Given the description of an element on the screen output the (x, y) to click on. 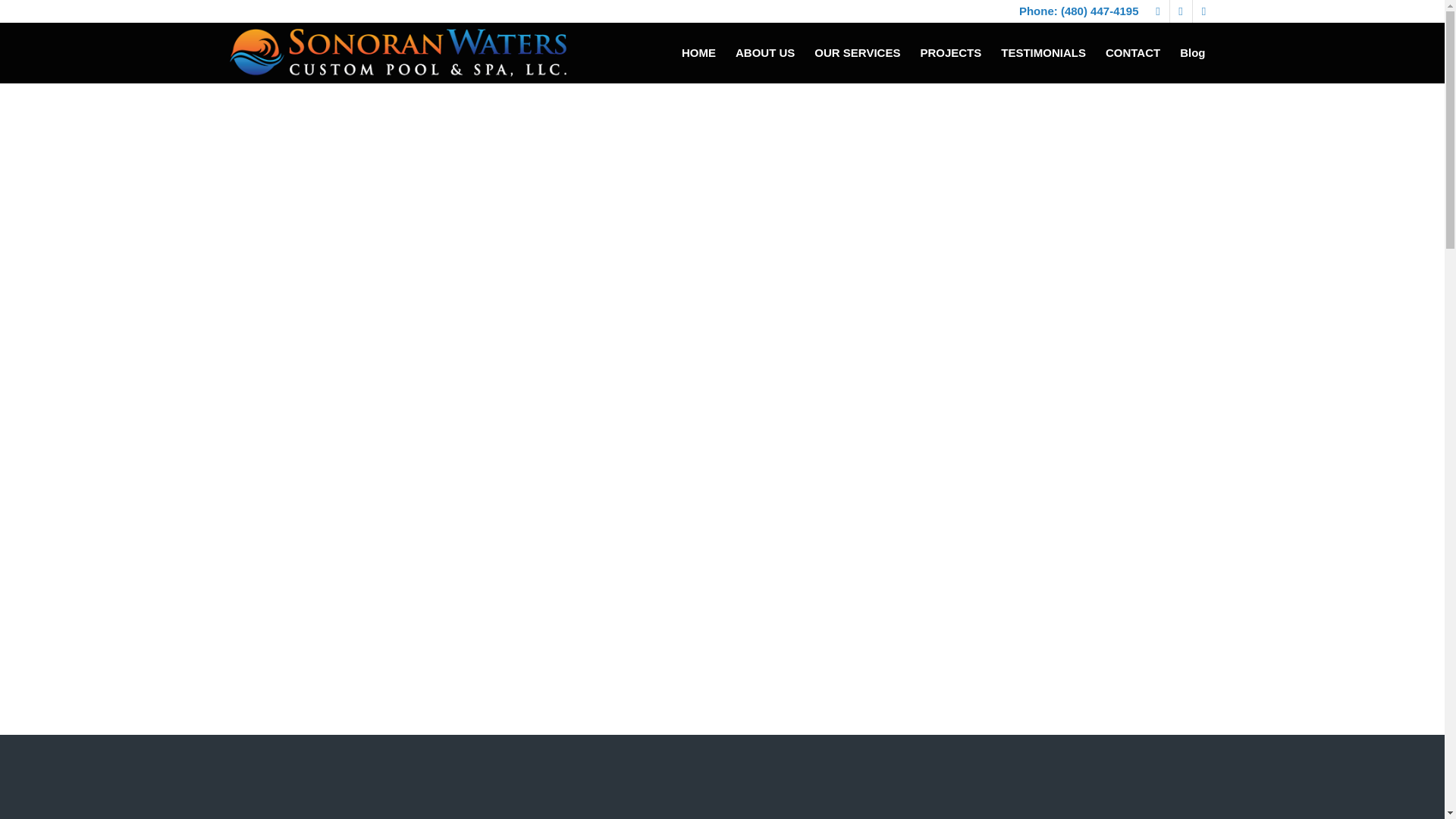
Youtube (1203, 11)
TESTIMONIALS (1043, 52)
Sonoran-Waters-Logo-White (397, 52)
Instagram (1180, 11)
CONTACT (1133, 52)
OUR SERVICES (857, 52)
Facebook (1158, 11)
PROJECTS (950, 52)
ABOUT US (765, 52)
